Given the description of an element on the screen output the (x, y) to click on. 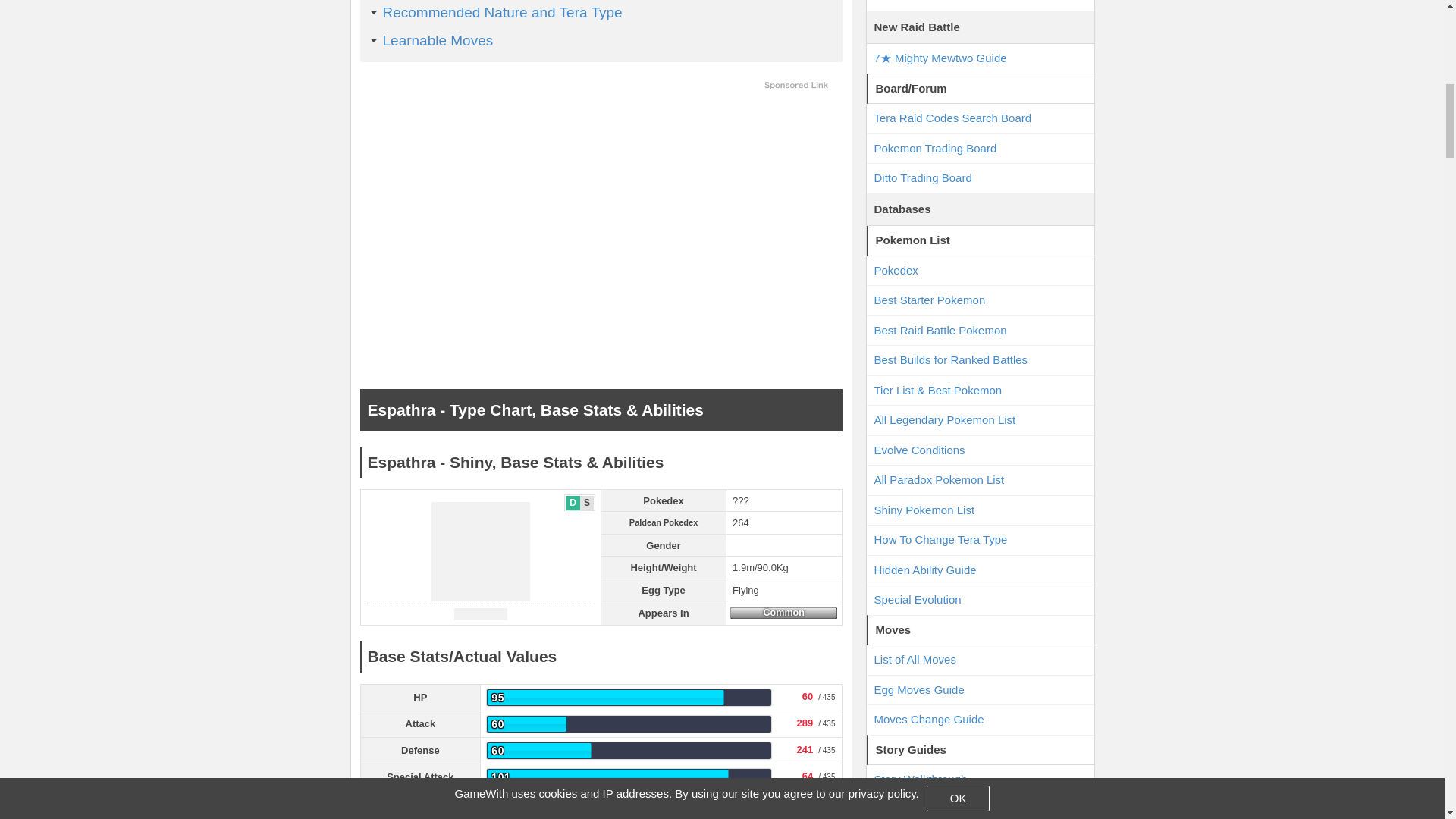
Recommended Nature and Tera Type (501, 12)
Learnable Moves (437, 39)
